Given the description of an element on the screen output the (x, y) to click on. 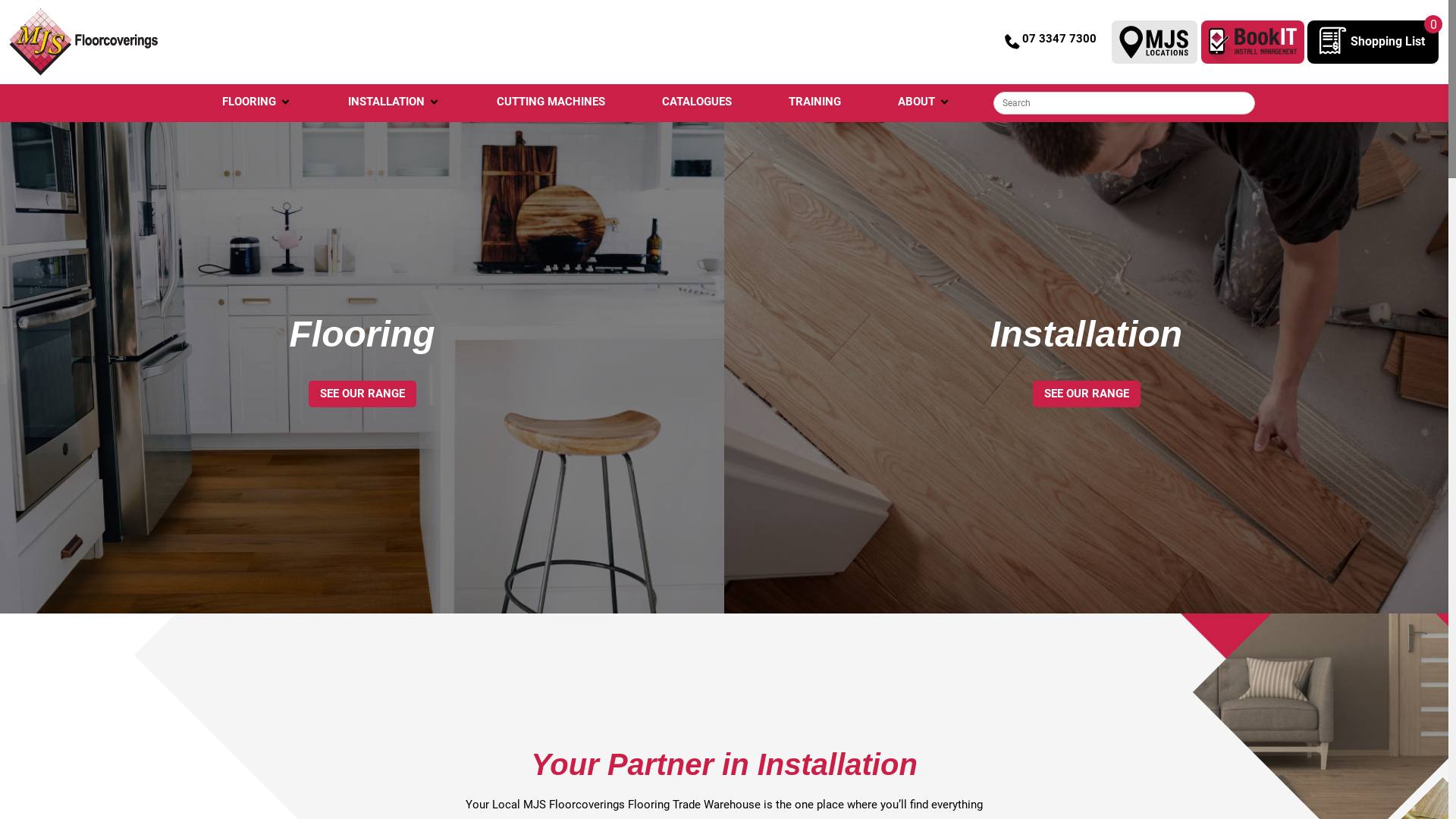
INSTALLATION Element type: text (385, 101)
CUTTING MACHINES Element type: text (549, 101)
ABOUT Element type: text (916, 101)
SEE OUR RANGE Element type: text (361, 393)
07 3347 7300 Element type: text (1049, 41)
SEE OUR RANGE Element type: text (1086, 393)
TRAINING Element type: text (814, 101)
0 Element type: text (1330, 47)
CATALOGUES Element type: text (696, 101)
FLOORING Element type: text (248, 101)
